Given the description of an element on the screen output the (x, y) to click on. 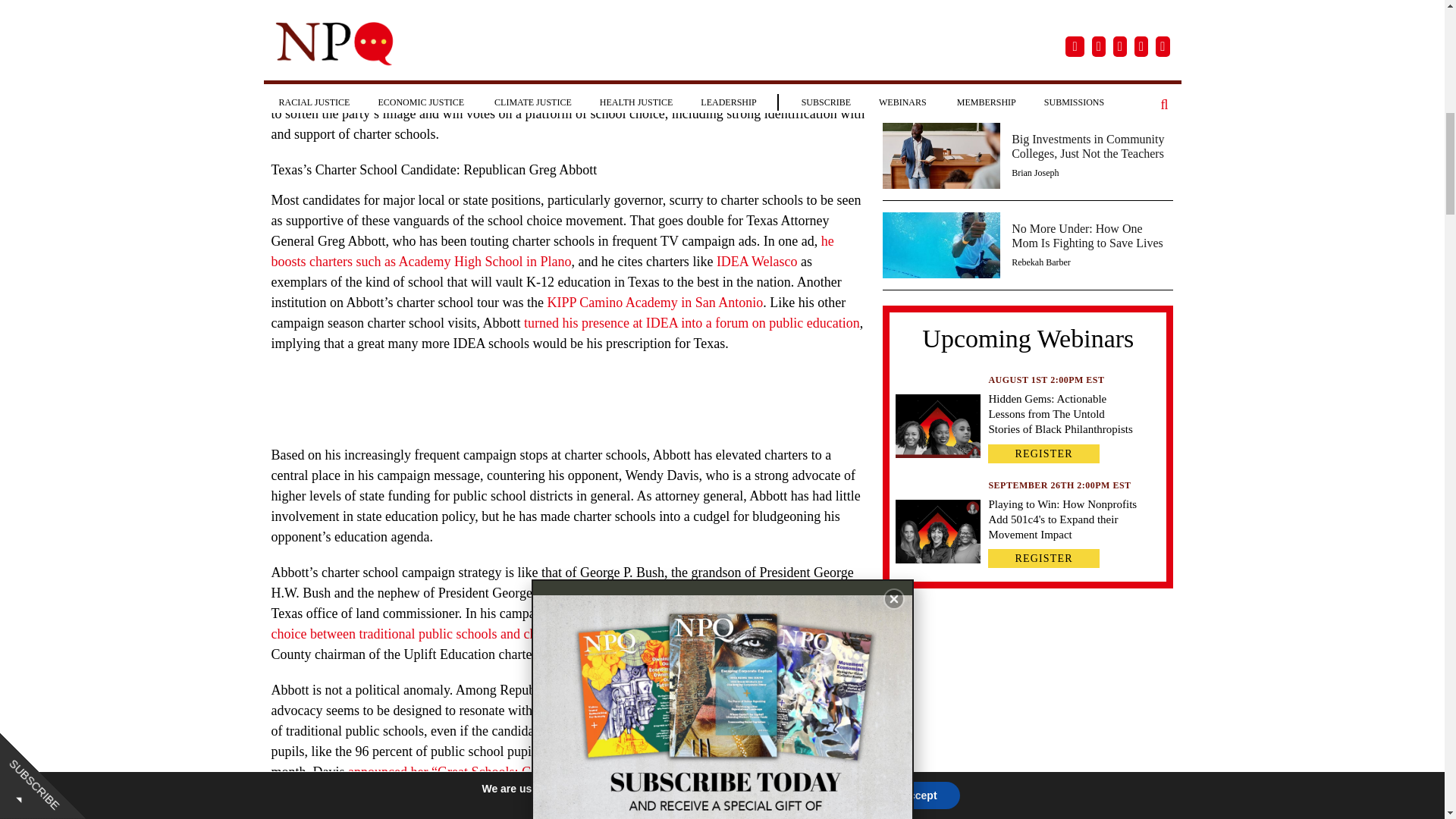
he boosts charters such as Academy High School in Plano (552, 251)
turned his presence at IDEA into a forum on public education (692, 322)
IDEA Welasco (756, 261)
immediately and publicly excoriated (710, 37)
KIPP Camino Academy in San Antonio (654, 302)
